Given the description of an element on the screen output the (x, y) to click on. 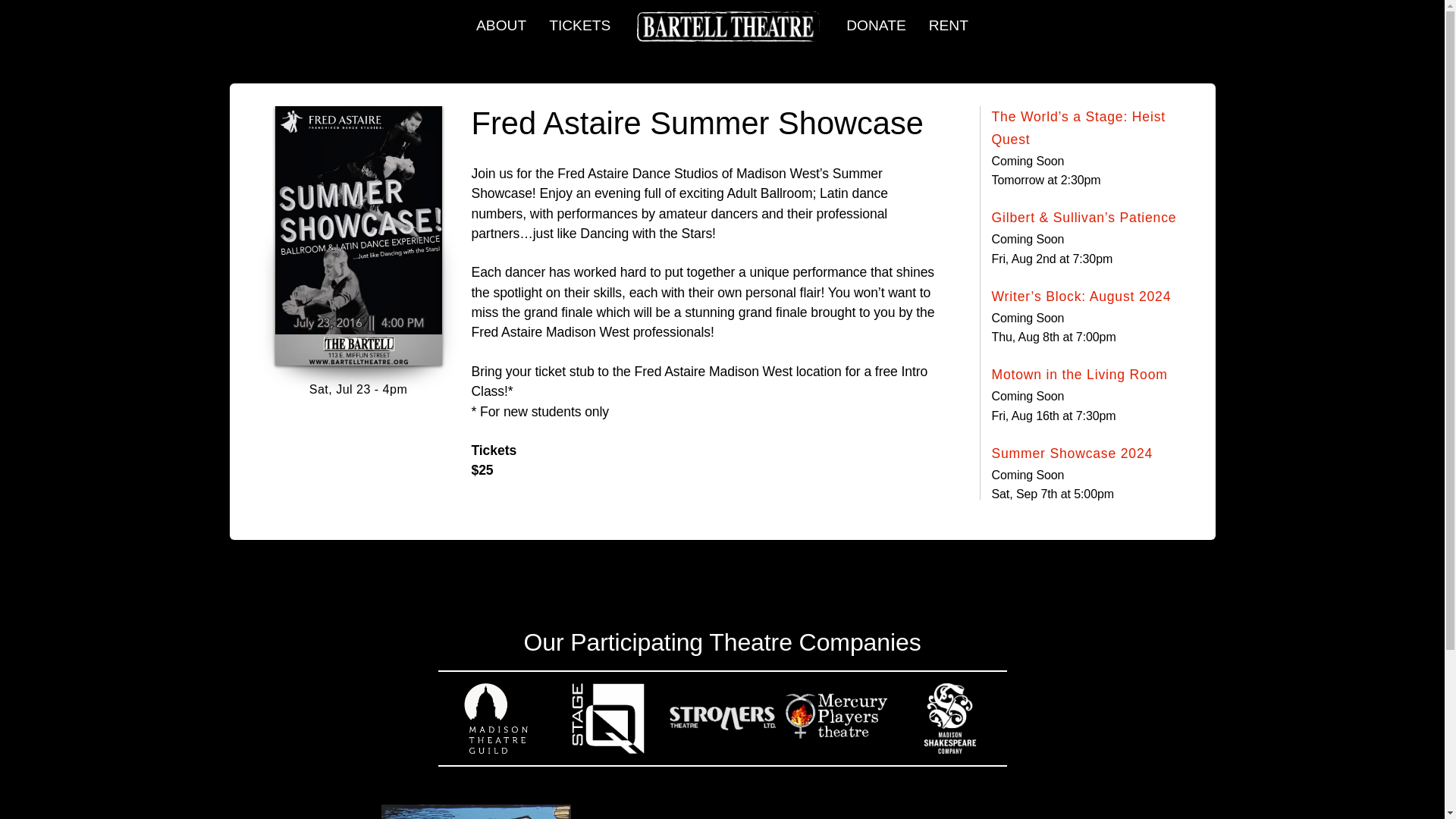
RENT (948, 17)
Summer Showcase 2024 (1072, 454)
TICKETS (579, 17)
DONATE (875, 17)
ABOUT (500, 17)
Motown in the Living Room (1079, 374)
